Given the description of an element on the screen output the (x, y) to click on. 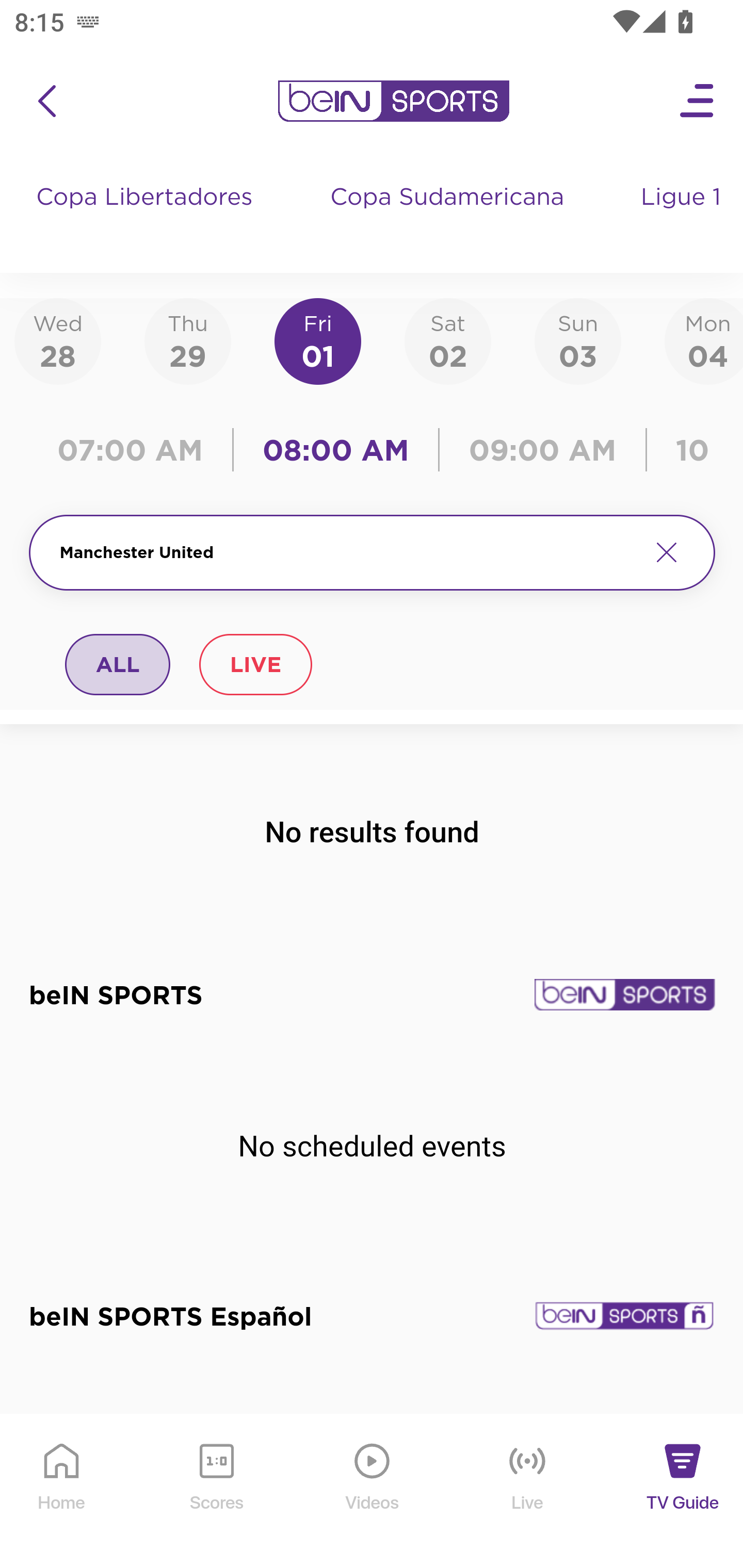
en-us?platform=mobile_android bein logo (392, 101)
icon back (46, 101)
Open Menu Icon (697, 101)
Copa Libertadores (146, 216)
Copa Sudamericana (448, 216)
Ligue 1 (682, 216)
Wed28 (58, 340)
Thu29 (187, 340)
Fri01 (318, 340)
Sat02 (447, 340)
Sun03 (578, 340)
Mon04 (703, 340)
07:00 AM (135, 449)
08:00 AM (336, 449)
09:00 AM (542, 449)
Manchester United (346, 552)
ALL (118, 663)
LIVE (255, 663)
Home Home Icon Home (61, 1491)
Scores Scores Icon Scores (216, 1491)
Videos Videos Icon Videos (372, 1491)
TV Guide TV Guide Icon TV Guide (682, 1491)
